Given the description of an element on the screen output the (x, y) to click on. 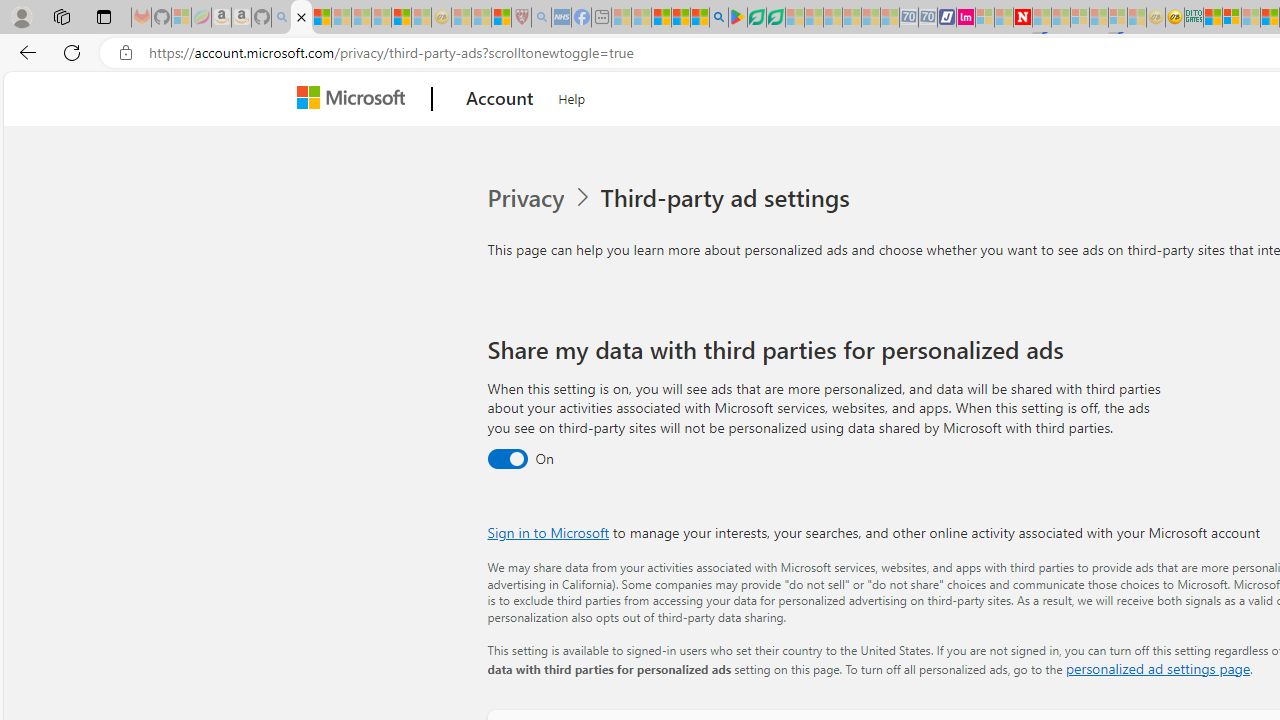
Bluey: Let's Play! - Apps on Google Play (737, 17)
Local - MSN (500, 17)
Third party data sharing toggle (506, 459)
Latest Politics News & Archive | Newsweek.com (1022, 17)
